Given the description of an element on the screen output the (x, y) to click on. 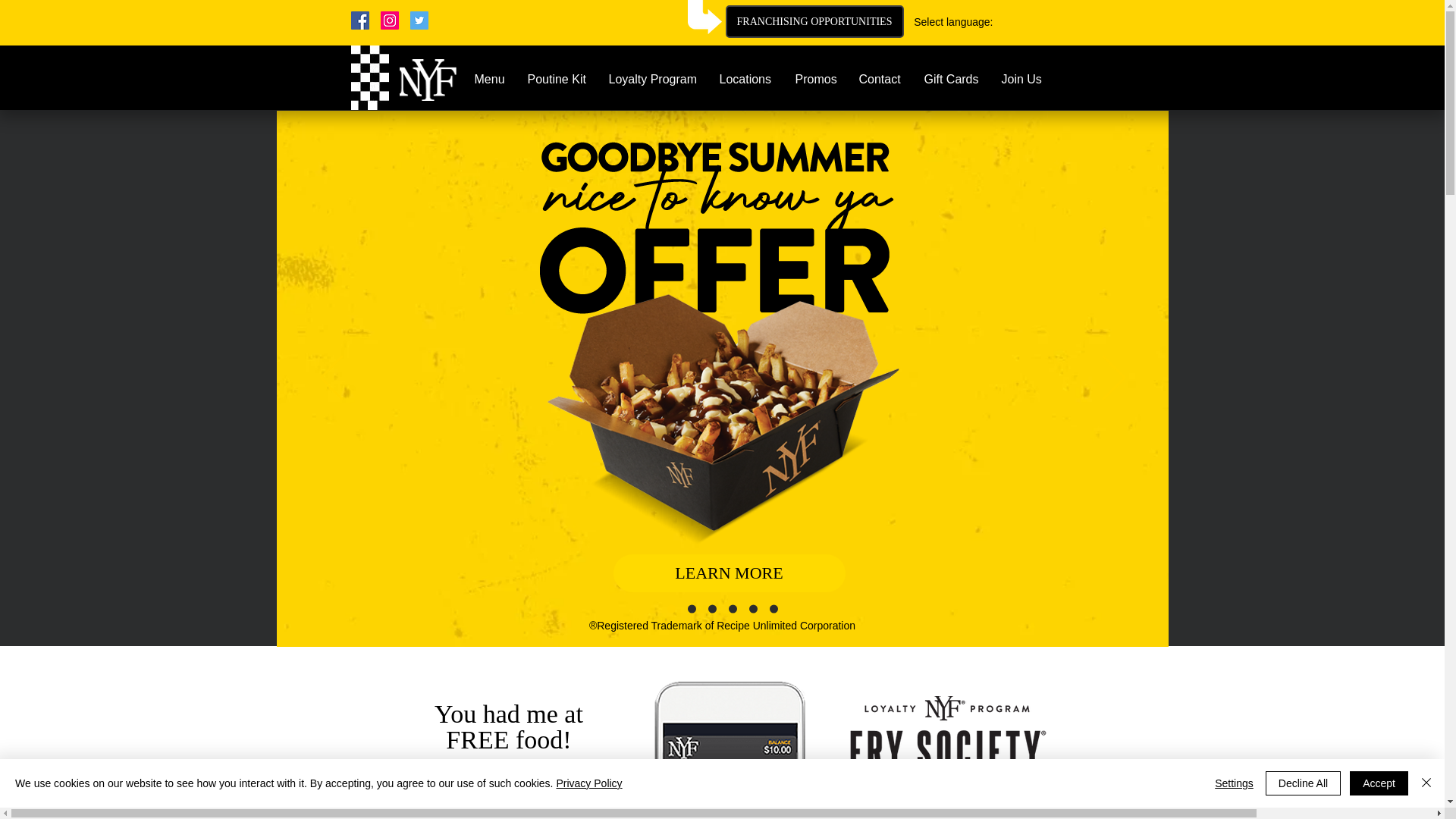
Contact (879, 79)
Locations (745, 79)
FRANCHISING OPPORTUNITIES (813, 20)
Loyalty Program (651, 79)
Promos (815, 79)
Join Us (1022, 79)
Gift Cards (951, 79)
LEARN MORE (728, 573)
Poutine Kit (555, 79)
Menu (489, 79)
